Given the description of an element on the screen output the (x, y) to click on. 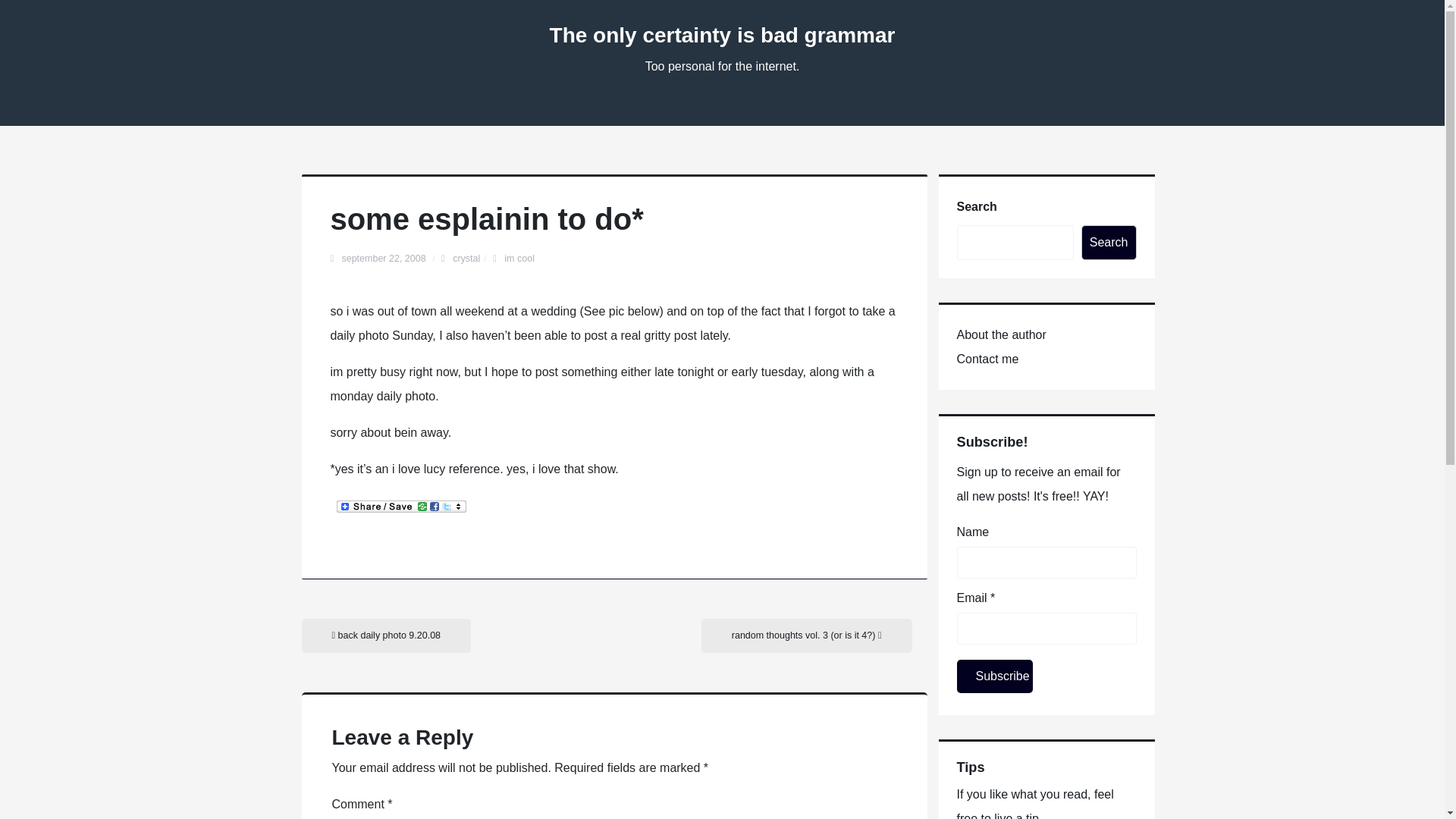
About the author (1001, 334)
The only certainty is bad grammar (722, 34)
crystal (466, 258)
im cool (518, 258)
back daily photo 9.20.08 (386, 635)
september 22, 2008 (384, 258)
Search (1109, 242)
Contact me (987, 358)
Subscribe (994, 676)
